Given the description of an element on the screen output the (x, y) to click on. 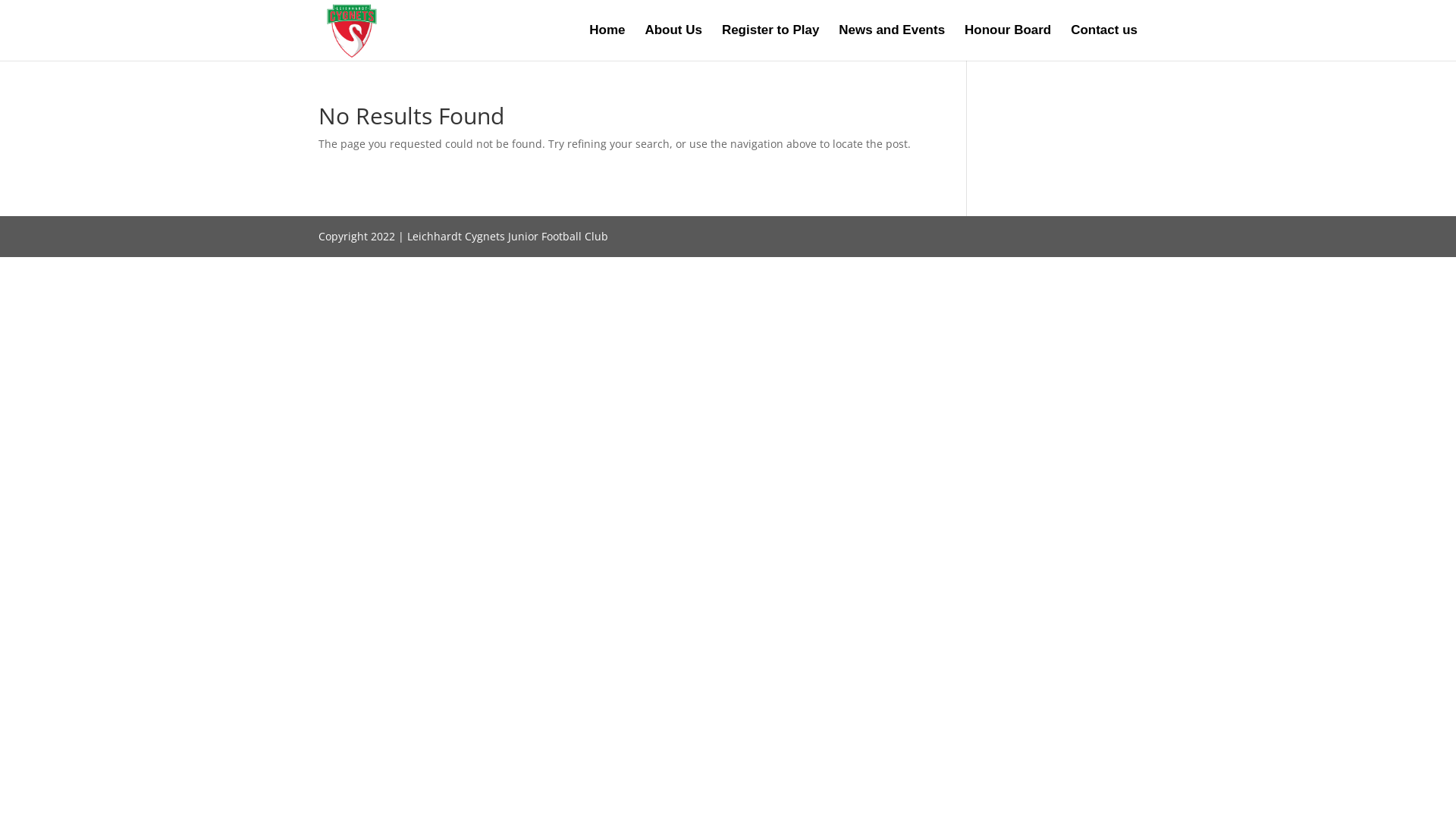
Contact us Element type: text (1103, 42)
Home Element type: text (606, 42)
About Us Element type: text (673, 42)
News and Events Element type: text (891, 42)
Register to Play Element type: text (770, 42)
Honour Board Element type: text (1007, 42)
